Given the description of an element on the screen output the (x, y) to click on. 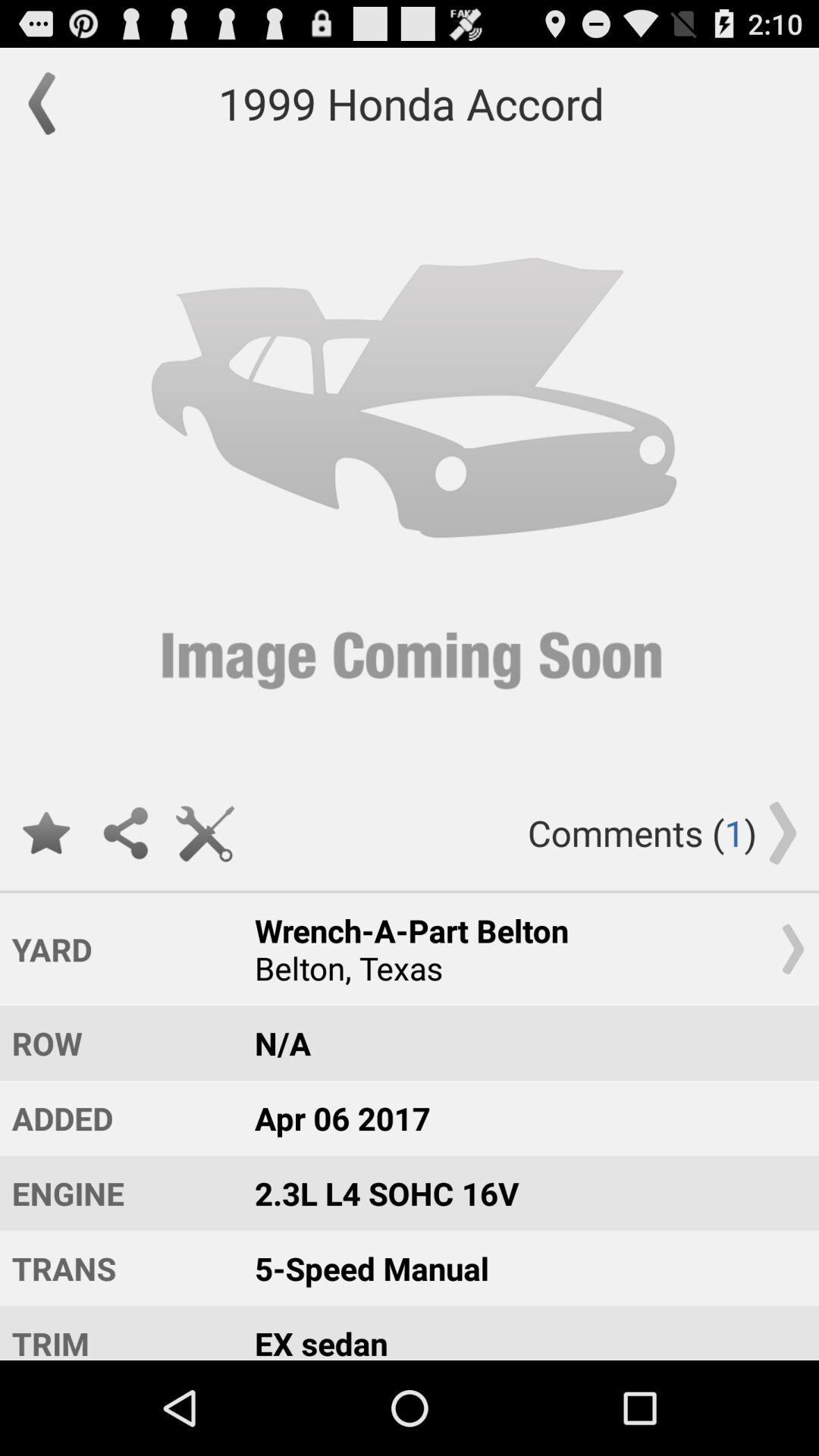
click app to the right of the added item (522, 1192)
